Given the description of an element on the screen output the (x, y) to click on. 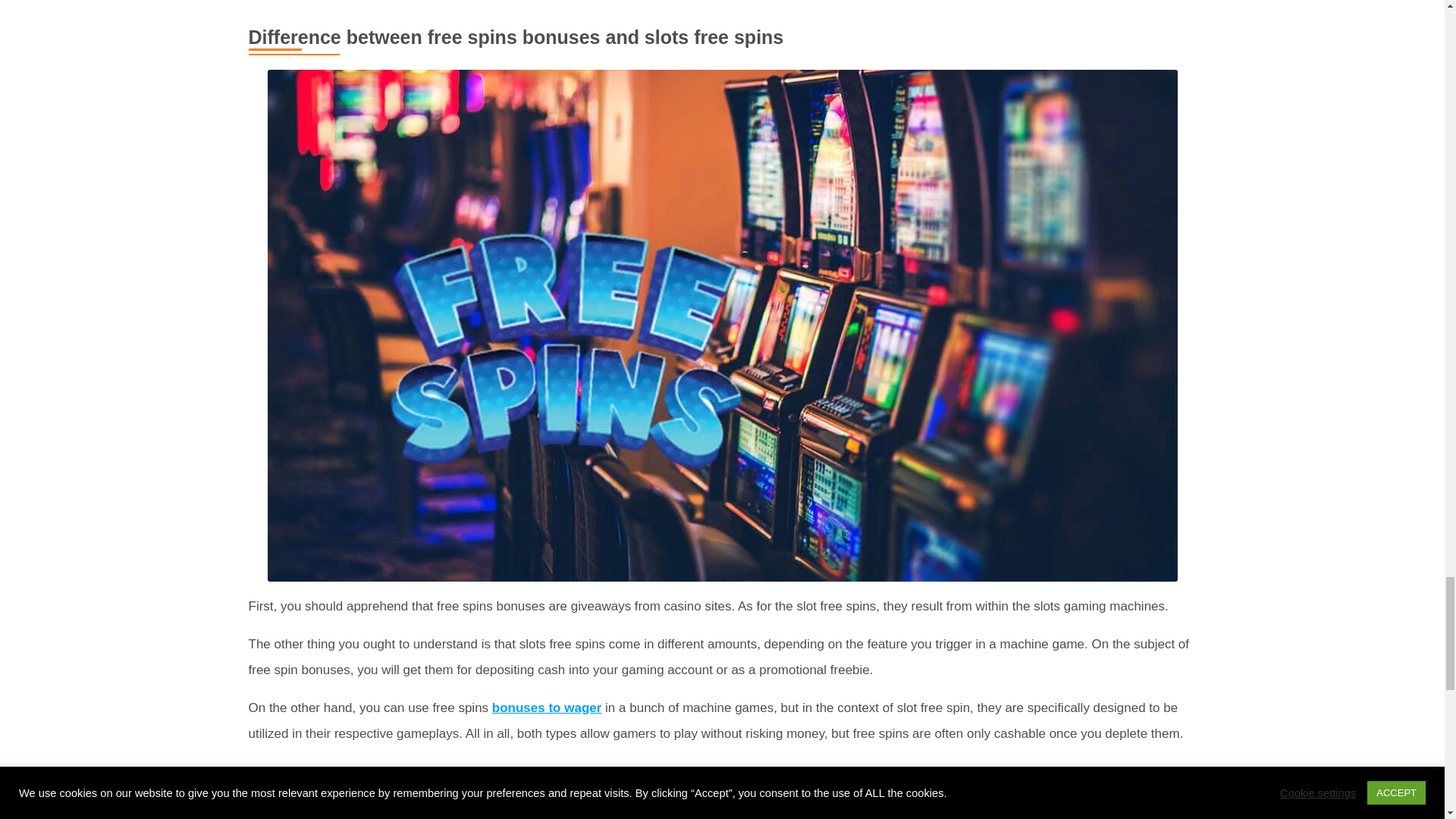
bonuses to wager (547, 707)
